Given the description of an element on the screen output the (x, y) to click on. 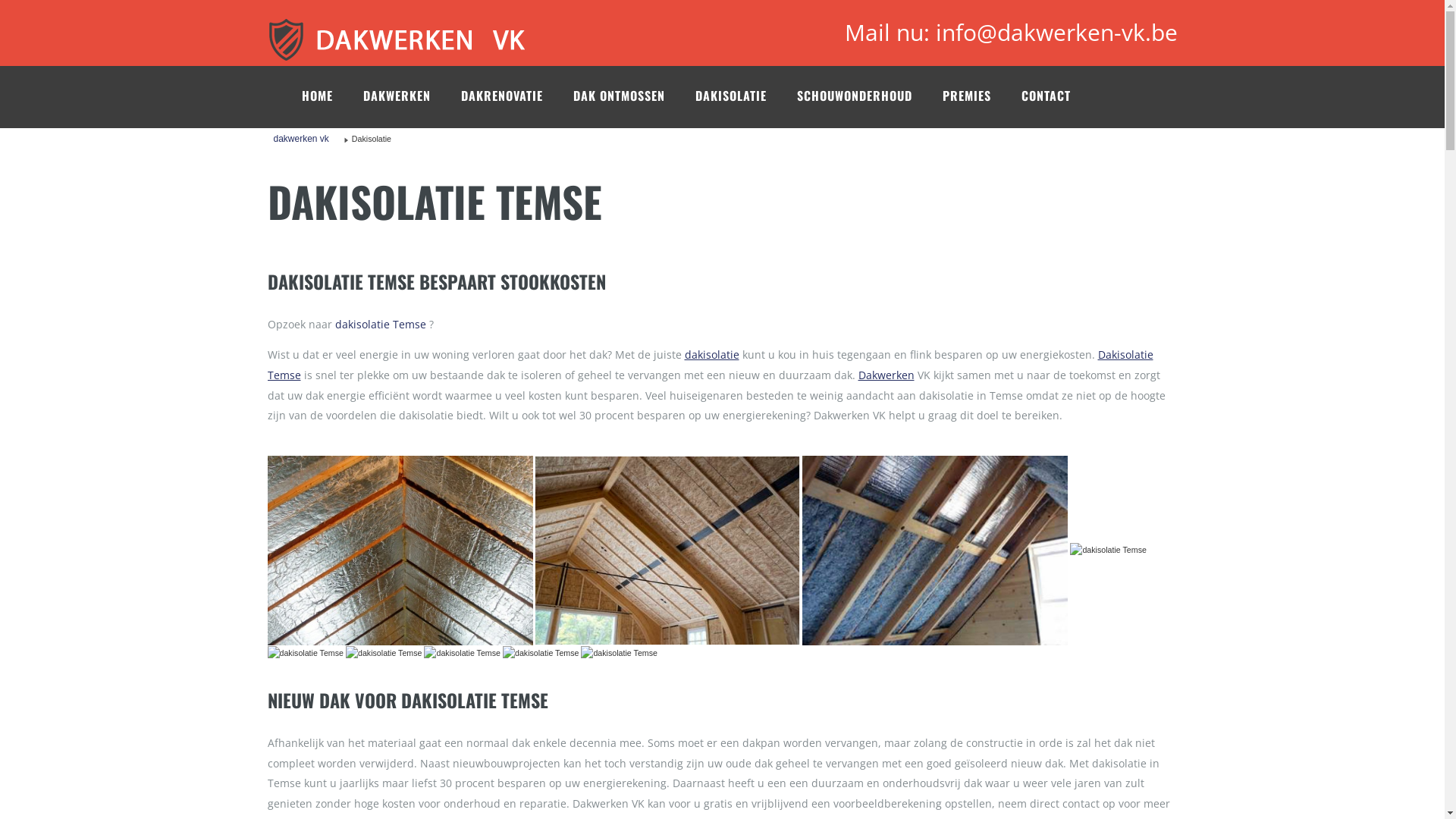
dakisolatie Element type: text (711, 354)
dakisolatie Temse Element type: hover (399, 550)
Dakisolatie Temse Element type: text (709, 364)
Dakwerken Element type: text (886, 374)
CONTACT Element type: text (1060, 95)
dakwerken Element type: hover (410, 39)
dakisolatie Temse Element type: hover (667, 550)
dakisolatie Temse Element type: hover (540, 653)
DAK ONTMOSSEN Element type: text (634, 95)
dakisolatie Temse Element type: hover (1108, 550)
PREMIES Element type: text (980, 95)
HOME Element type: text (332, 95)
DAKRENOVATIE Element type: text (517, 95)
dakisolatie Temse Element type: hover (934, 550)
dakisolatie Temse Element type: hover (383, 653)
dakisolatie Temse Element type: hover (618, 653)
DAKWERKEN Element type: text (411, 95)
dakisolatie Temse Element type: hover (304, 653)
DAKISOLATIE Element type: text (745, 95)
dakwerken vk Element type: text (300, 138)
SCHOUWONDERHOUD Element type: text (868, 95)
dakisolatie Temse Element type: hover (461, 653)
dakwerken Element type: hover (420, 30)
